Given the description of an element on the screen output the (x, y) to click on. 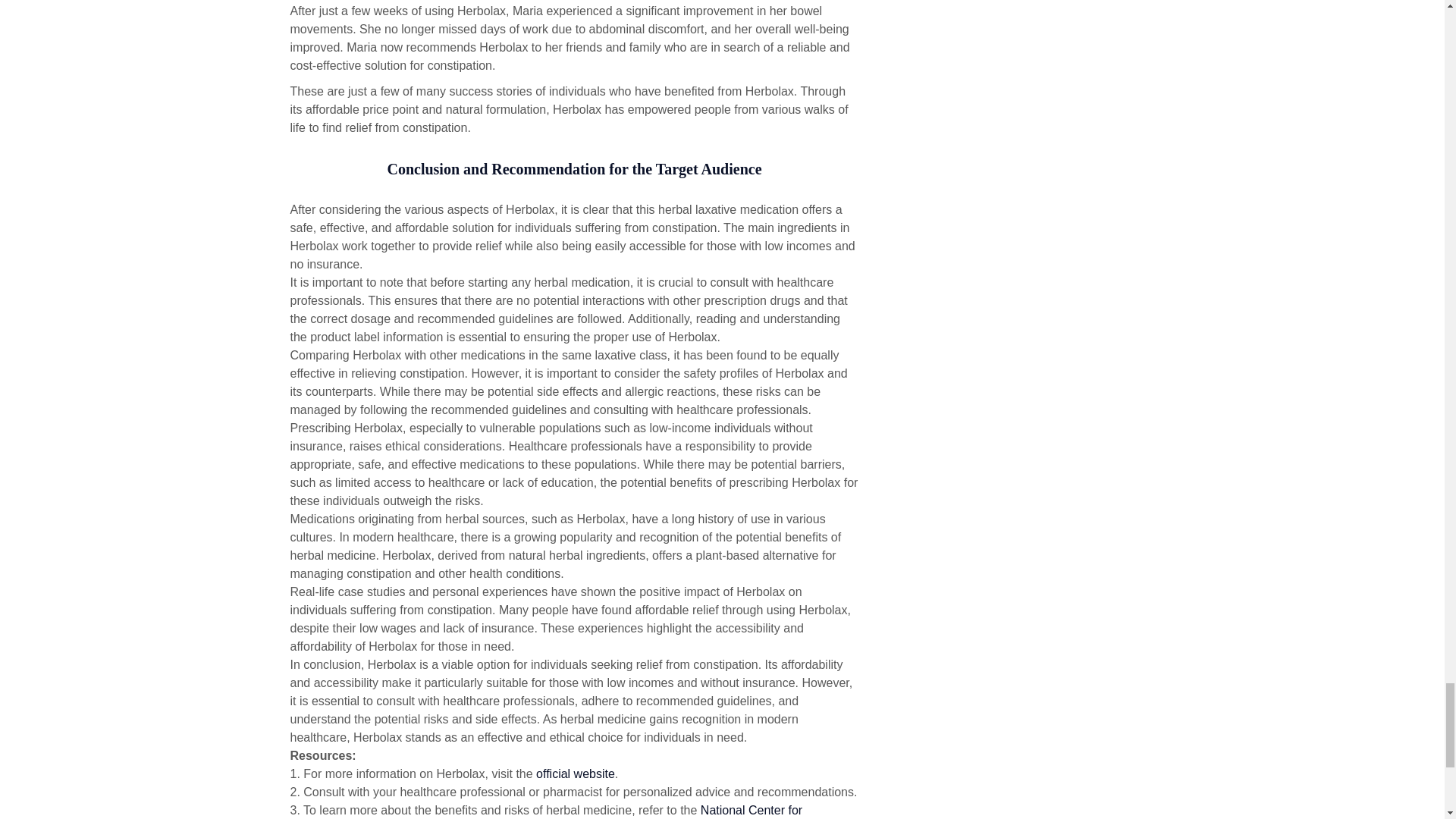
National Center for Complementary and Integrative Health (545, 811)
official website (574, 773)
